Given the description of an element on the screen output the (x, y) to click on. 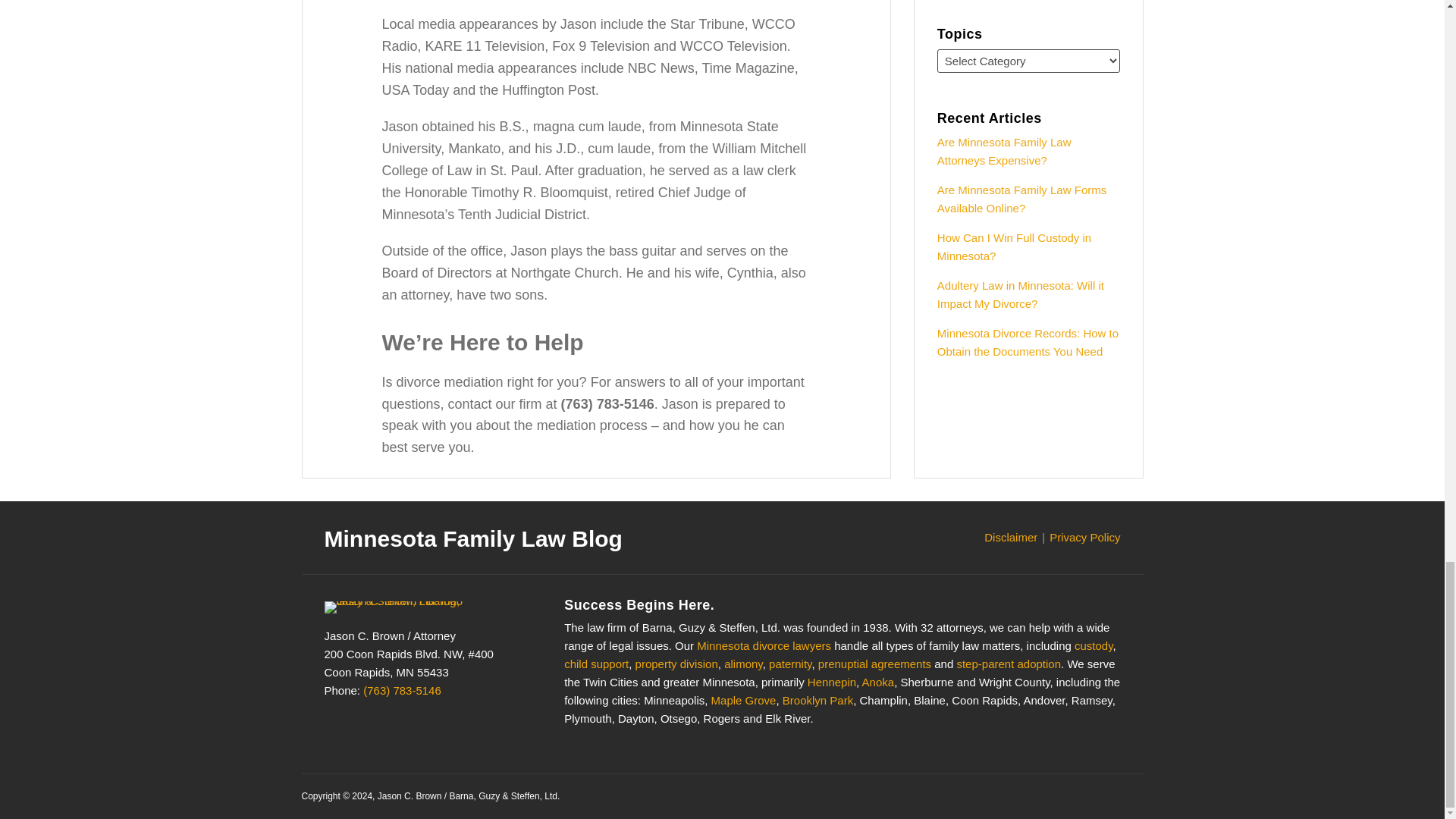
Hennepin (832, 681)
Adultery Law in Minnesota: Will it Impact My Divorce? (1020, 294)
prenuptial agreements (874, 663)
Minnesota divorce lawyers (764, 645)
custody (1093, 645)
Maple Grove (743, 699)
Minnesota Family Law Blog (473, 538)
paternity (789, 663)
How Can I Win Full Custody in Minnesota? (1013, 246)
step-parent adoption (1008, 663)
child support (596, 663)
Privacy Policy (1084, 537)
Are Minnesota Family Law Forms Available Online? (1021, 198)
Brooklyn Park (818, 699)
